Given the description of an element on the screen output the (x, y) to click on. 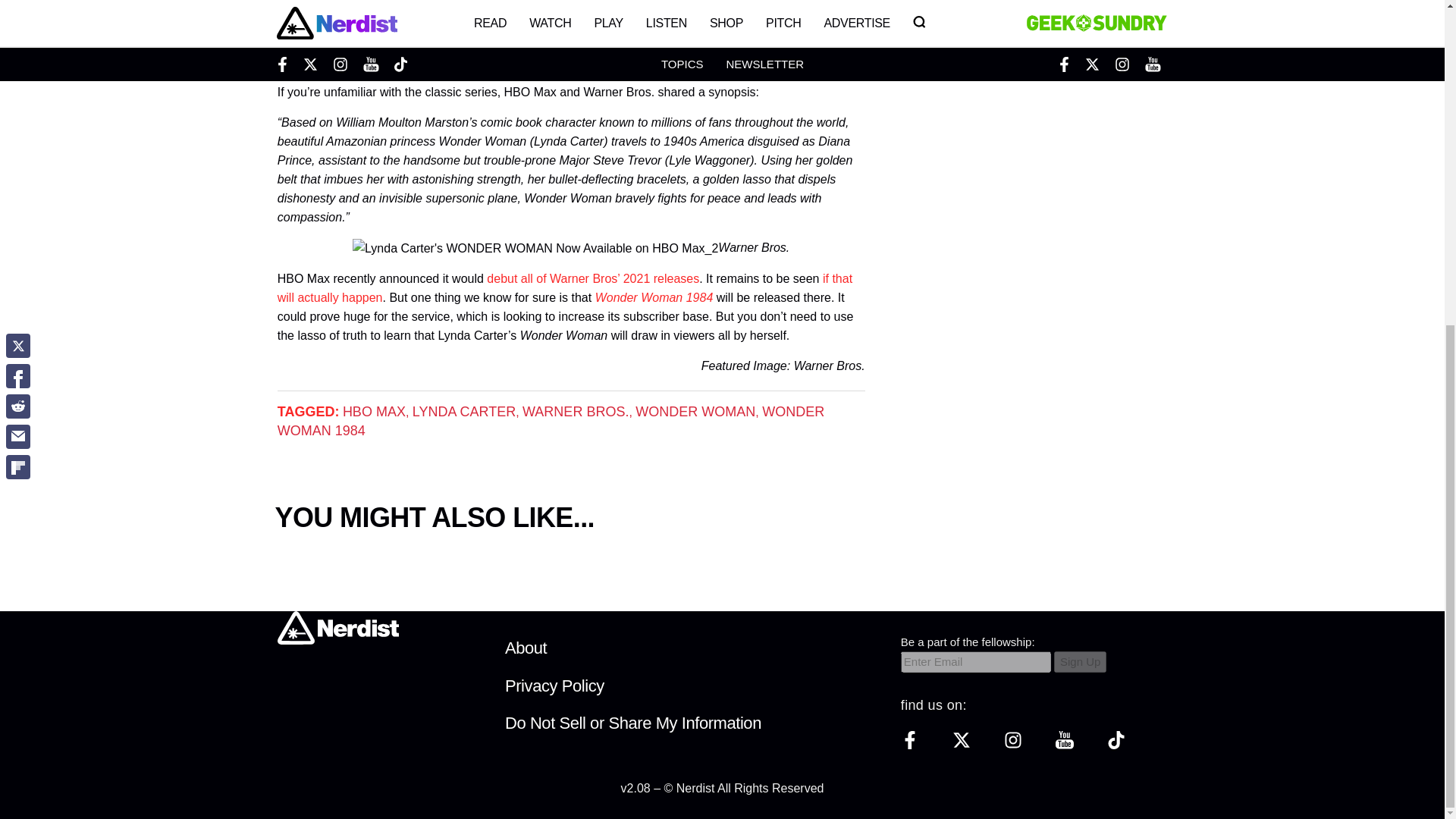
Sign Up (1080, 662)
HBO MAX (374, 411)
LYNDA CARTER (463, 411)
Wonder Woman 1984 (654, 297)
WONDER WOMAN 1984 (551, 421)
WONDER WOMAN (694, 411)
if that will actually happen (564, 287)
WARNER BROS. (575, 411)
